Given the description of an element on the screen output the (x, y) to click on. 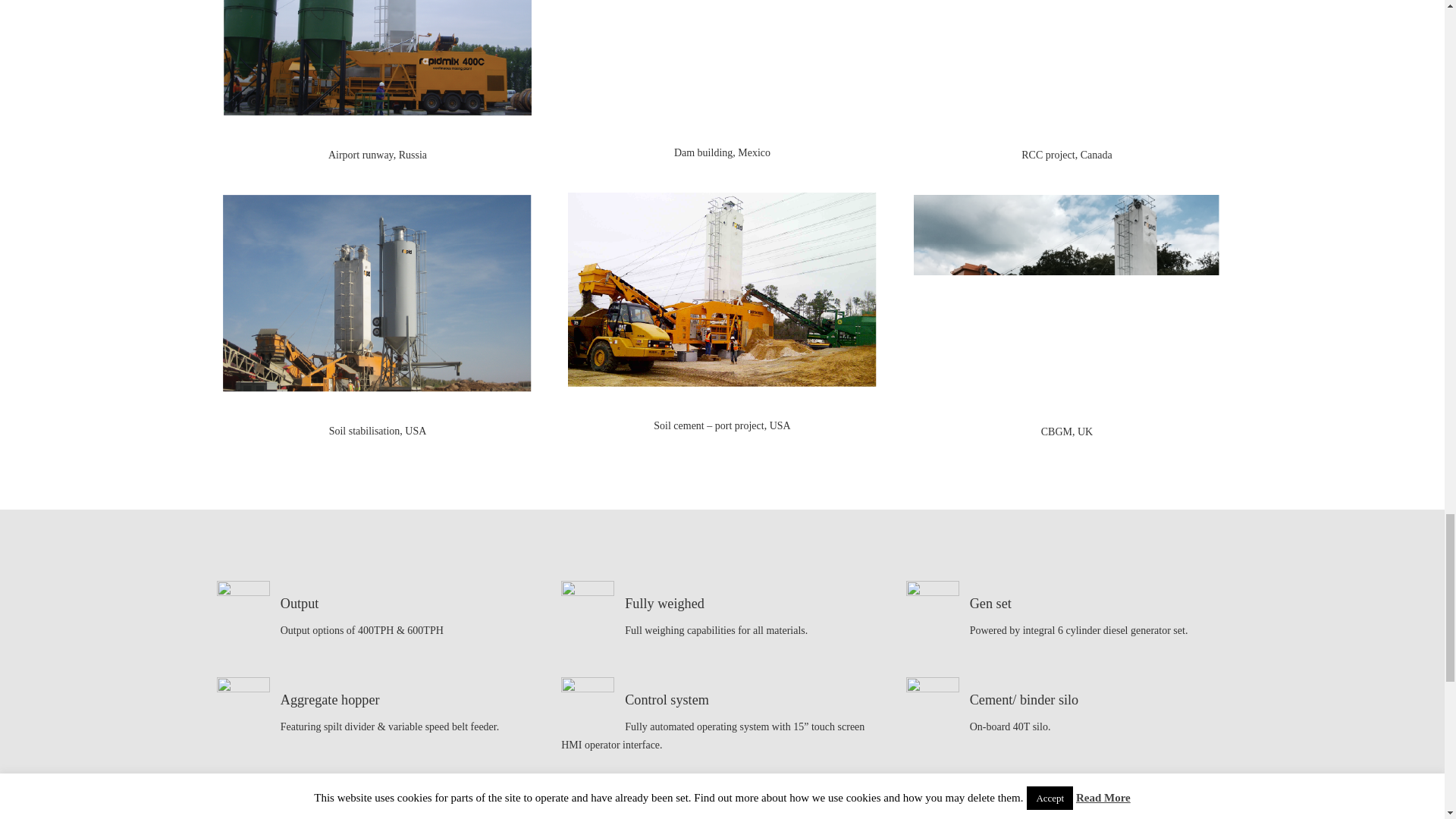
21Asset 2 (377, 58)
Page 1 (377, 431)
21Asset 5 (376, 293)
Page 1 (377, 155)
